Given the description of an element on the screen output the (x, y) to click on. 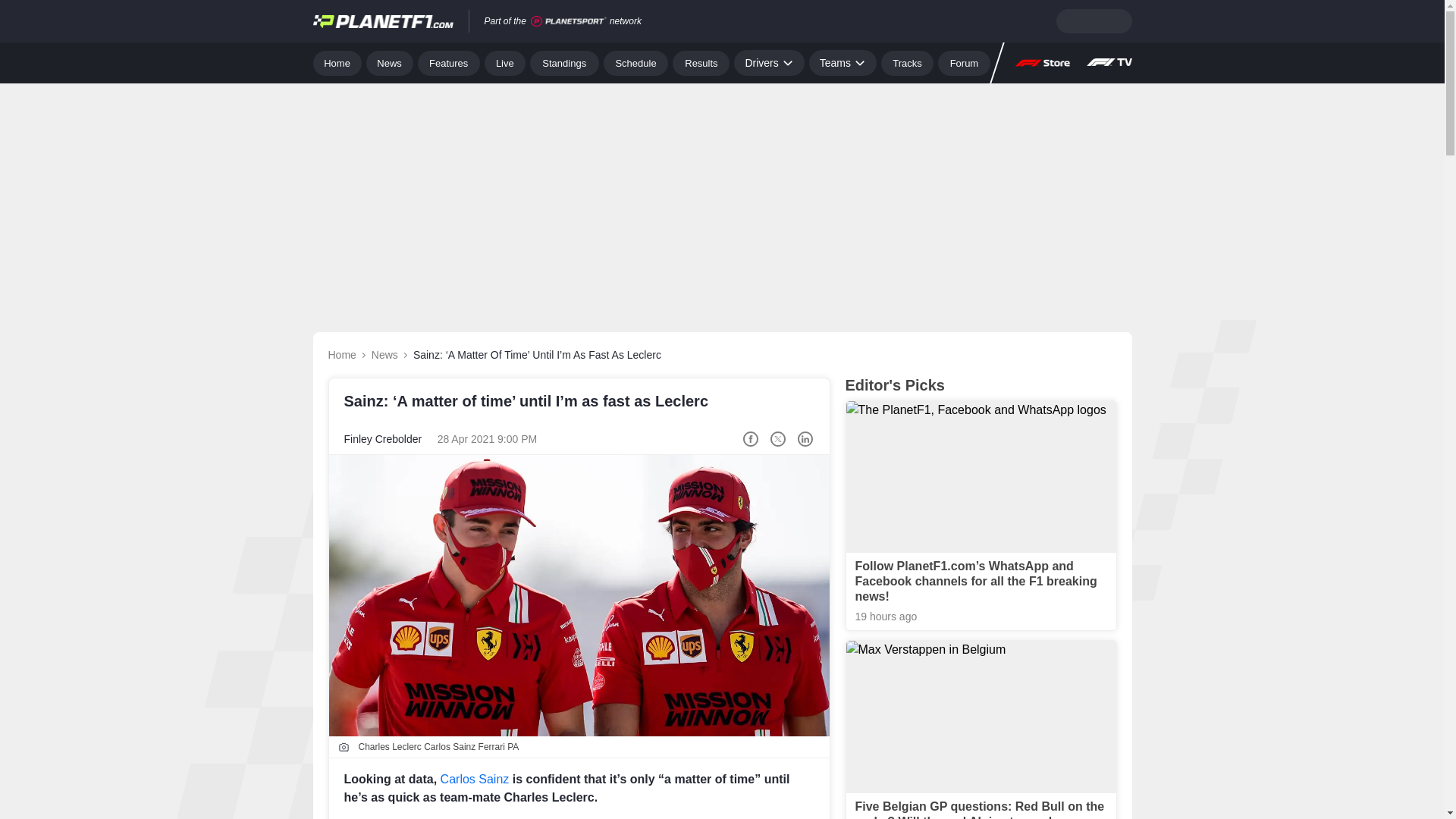
Standings (563, 62)
Schedule (636, 62)
Home (337, 62)
News (389, 62)
Teams (842, 62)
Results (700, 62)
Live (504, 62)
Drivers (768, 62)
Features (448, 62)
